Given the description of an element on the screen output the (x, y) to click on. 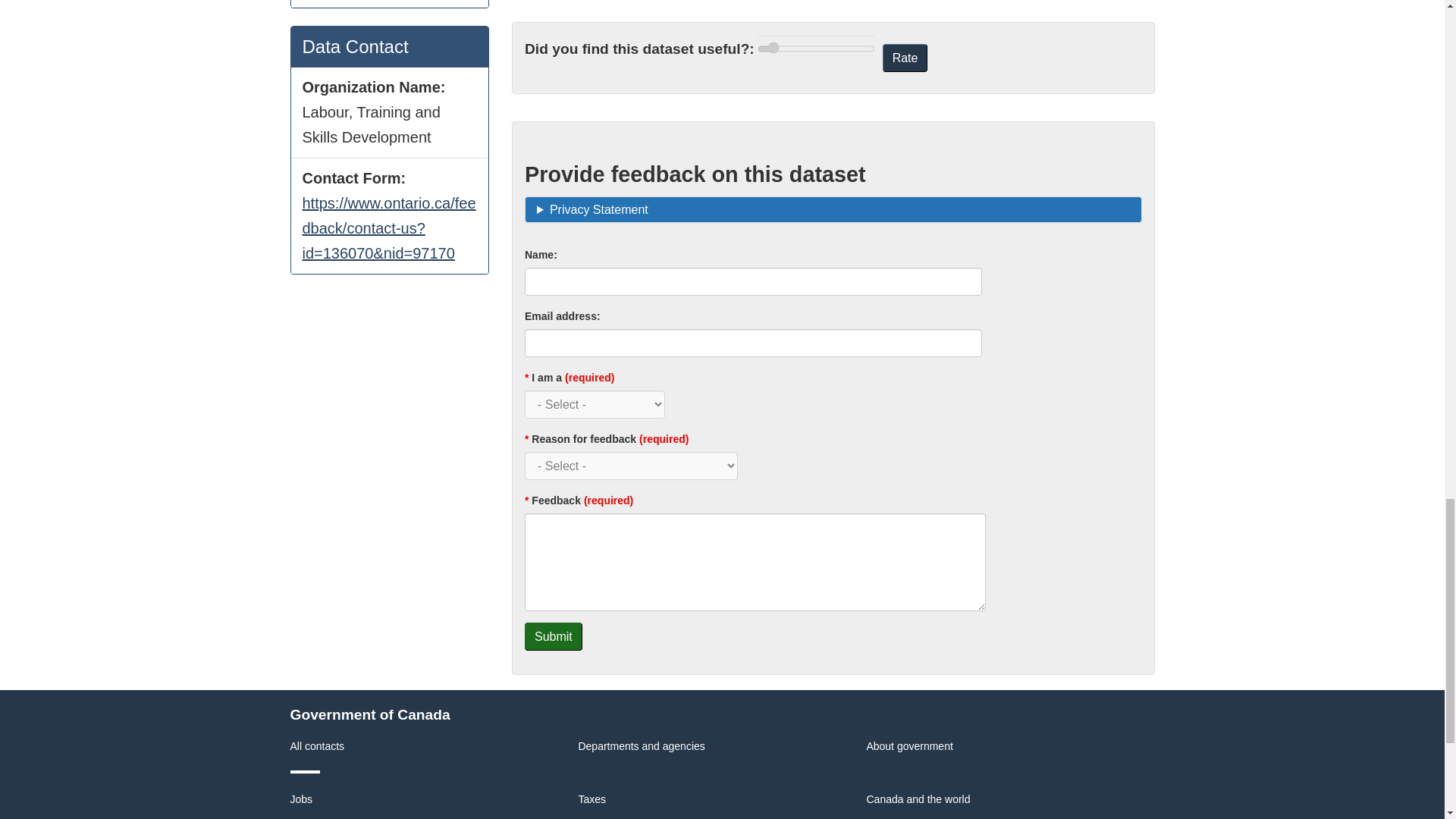
0 (816, 49)
